Given the description of an element on the screen output the (x, y) to click on. 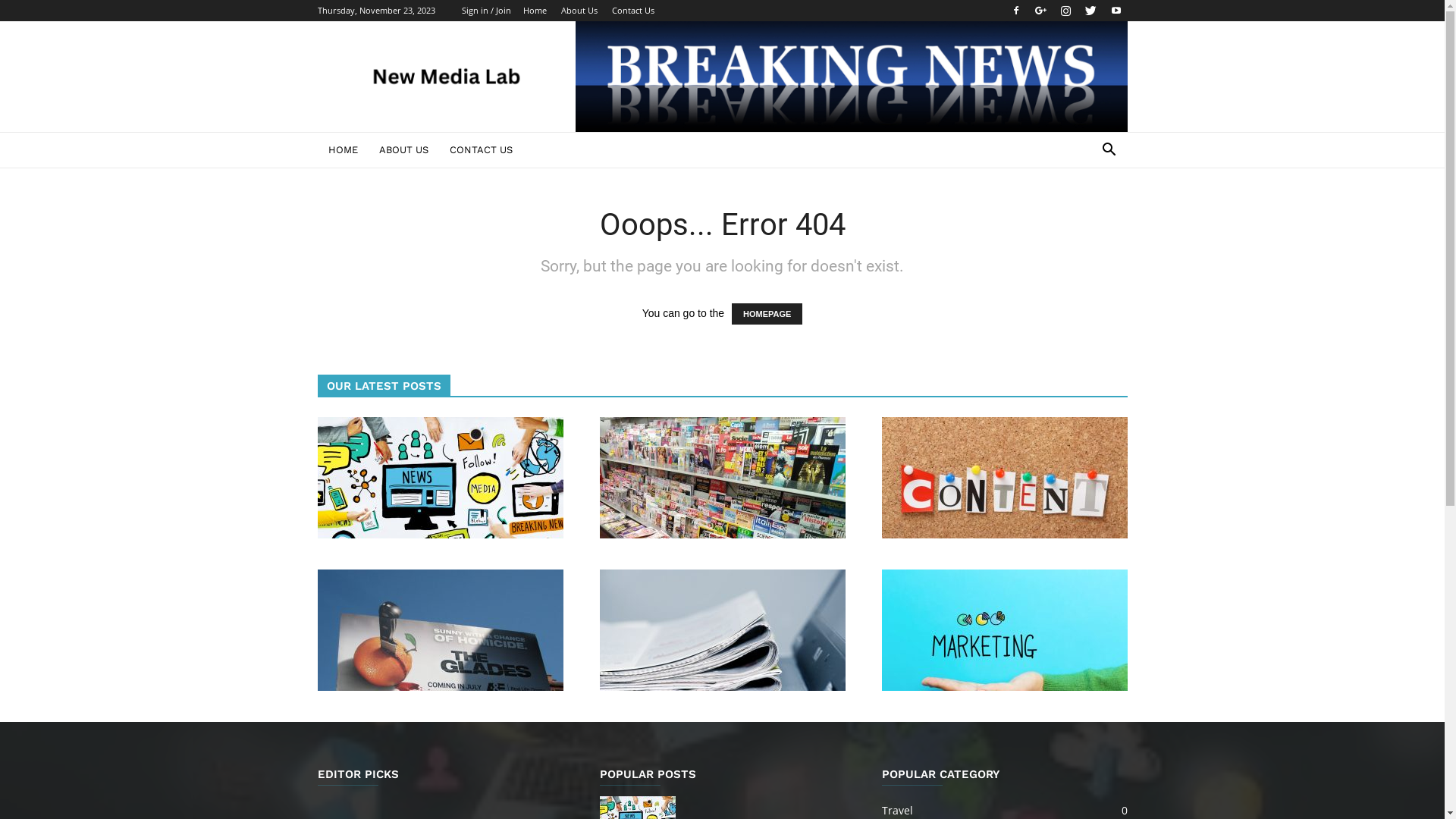
Contact Us Element type: text (632, 9)
Search Element type: text (1085, 210)
Sign in / Join Element type: text (485, 9)
Twitter Element type: hover (1090, 10)
Facebook Element type: hover (1015, 10)
HOME Element type: text (341, 149)
Youtube Element type: hover (1115, 10)
Home Element type: text (534, 9)
Instagram Element type: hover (1065, 10)
About Us Element type: text (579, 9)
Google+ Element type: hover (1040, 10)
ABOUT US Element type: text (403, 149)
HOMEPAGE Element type: text (766, 313)
Travel
0 Element type: text (896, 810)
CONTACT US Element type: text (480, 149)
